Given the description of an element on the screen output the (x, y) to click on. 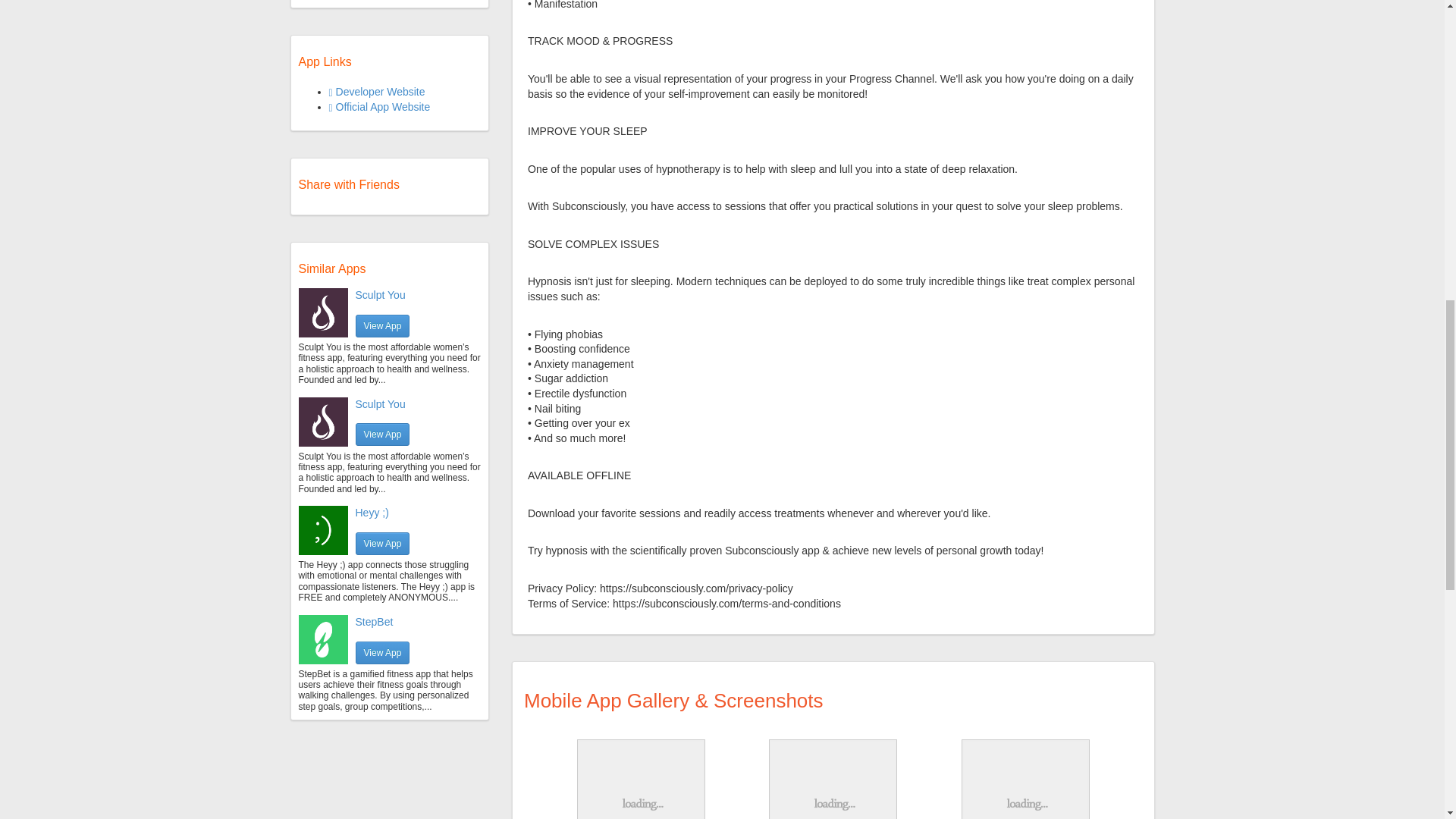
View App (382, 434)
Developer Website (377, 91)
Sculpt You (379, 295)
Subconsciously mobile screenshot 1 (641, 780)
View App (382, 325)
Sculpt You (379, 403)
Official App Website (379, 106)
